Given the description of an element on the screen output the (x, y) to click on. 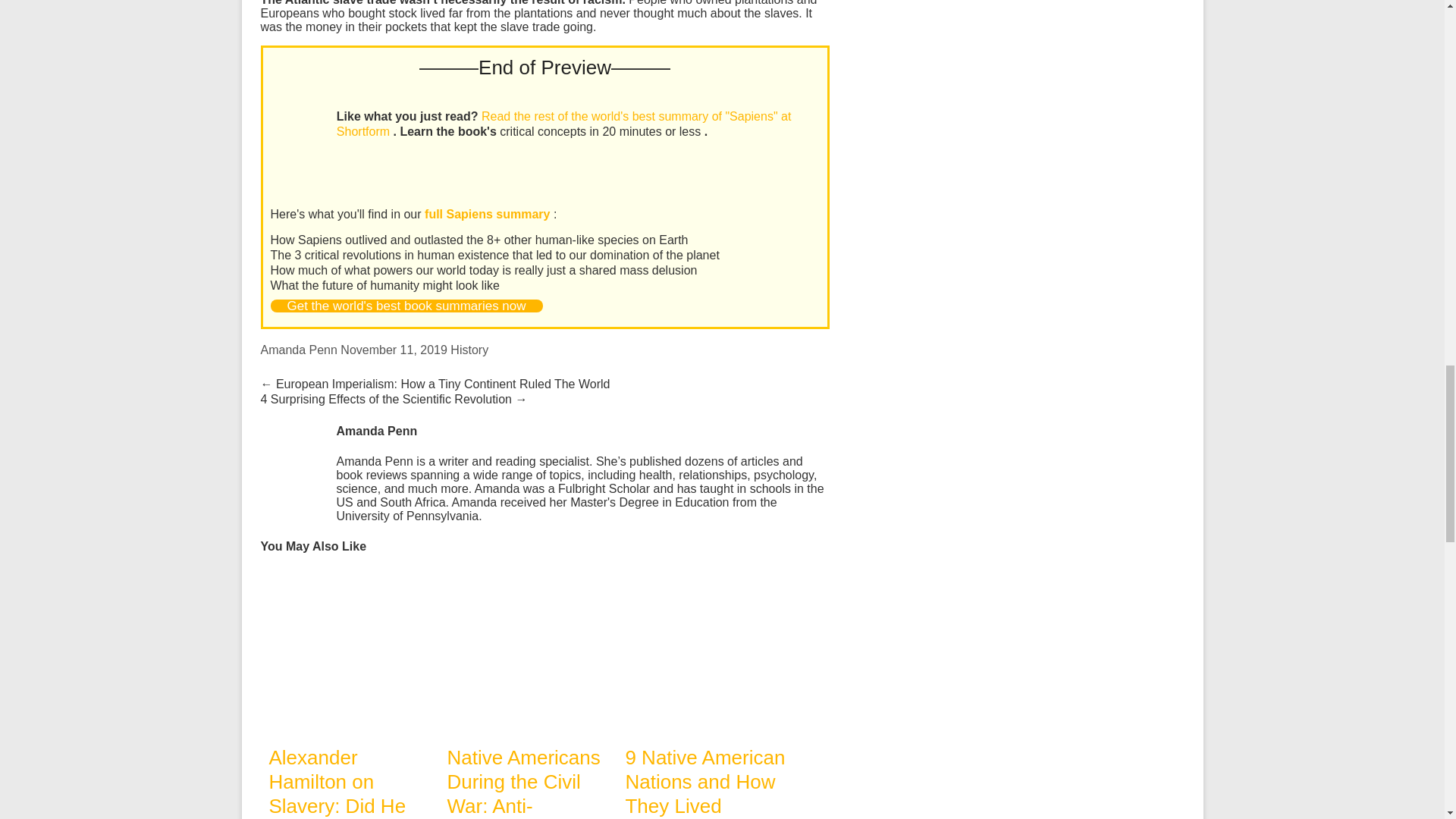
Get the world's best book summaries now (405, 305)
Amanda Penn (298, 349)
Alexander Hamilton on Slavery: Did He Own Slaves? (348, 651)
9 Native American Nations and How They Lived (705, 576)
9 Native American Nations and How They Lived (704, 781)
full Sapiens summary (489, 214)
November 11, 2019 (393, 349)
Alexander Hamilton on Slavery: Did He Own Slaves? (348, 576)
Alexander Hamilton on Slavery: Did He Own Slaves? (336, 782)
History (468, 349)
9 Native American Nations and How They Lived (704, 781)
9 Native American Nations and How They Lived (705, 651)
